Given the description of an element on the screen output the (x, y) to click on. 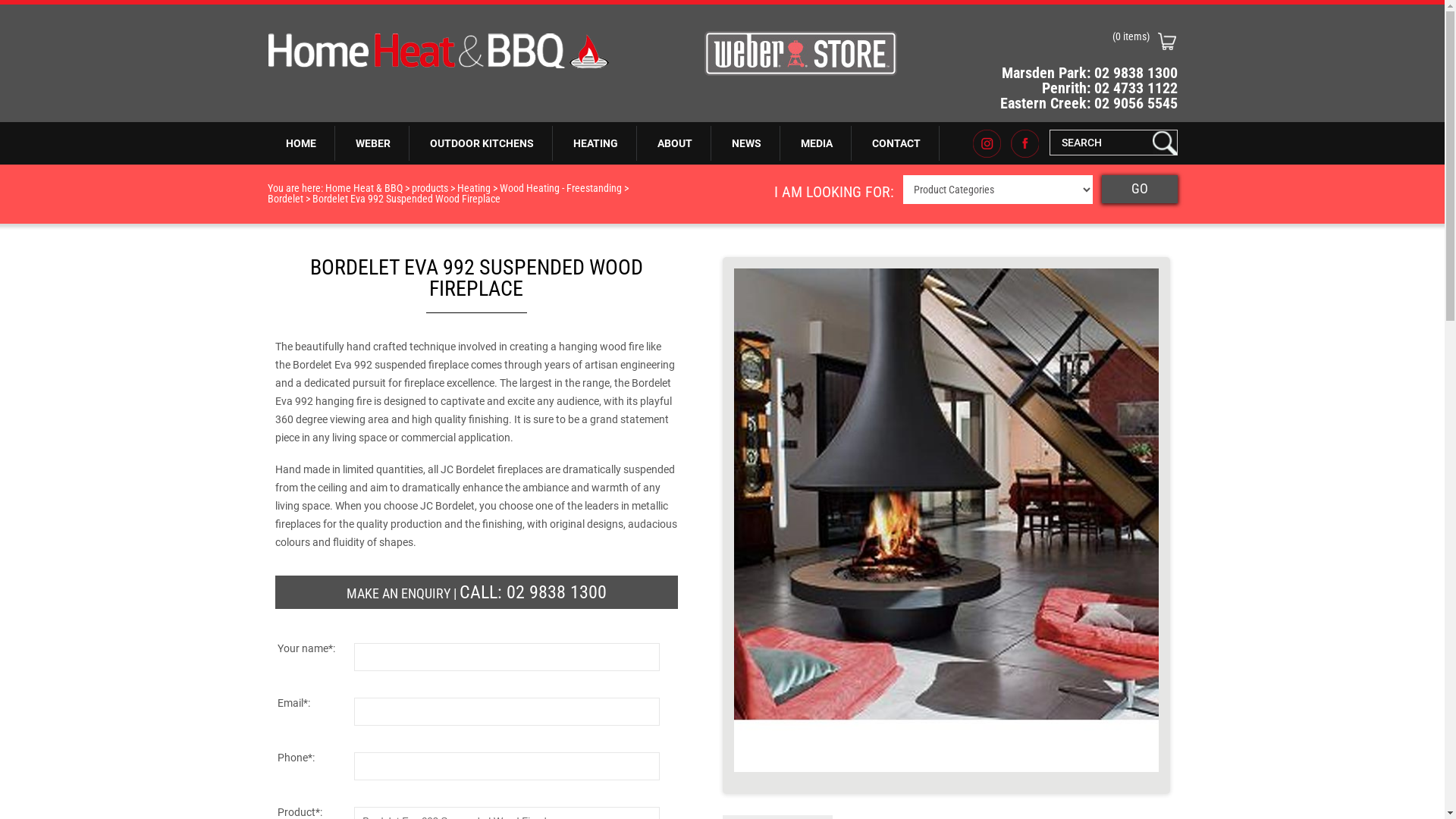
ABOUT Element type: text (674, 142)
Bordelet Element type: text (284, 198)
WEBER Element type: text (372, 142)
NEWS Element type: text (745, 142)
HEATING Element type: text (596, 142)
products Element type: text (429, 188)
HOME Element type: text (300, 142)
02 9838 1300 Element type: text (556, 591)
CONTACT Element type: text (896, 142)
OUTDOOR KITCHENS Element type: text (481, 142)
GO Element type: text (1138, 189)
Heating Element type: text (472, 188)
Home Heat & BBQ Element type: text (362, 188)
Wood Heating - Freestanding Element type: text (559, 188)
(0 items) Element type: text (1071, 41)
MEDIA Element type: text (816, 142)
